Given the description of an element on the screen output the (x, y) to click on. 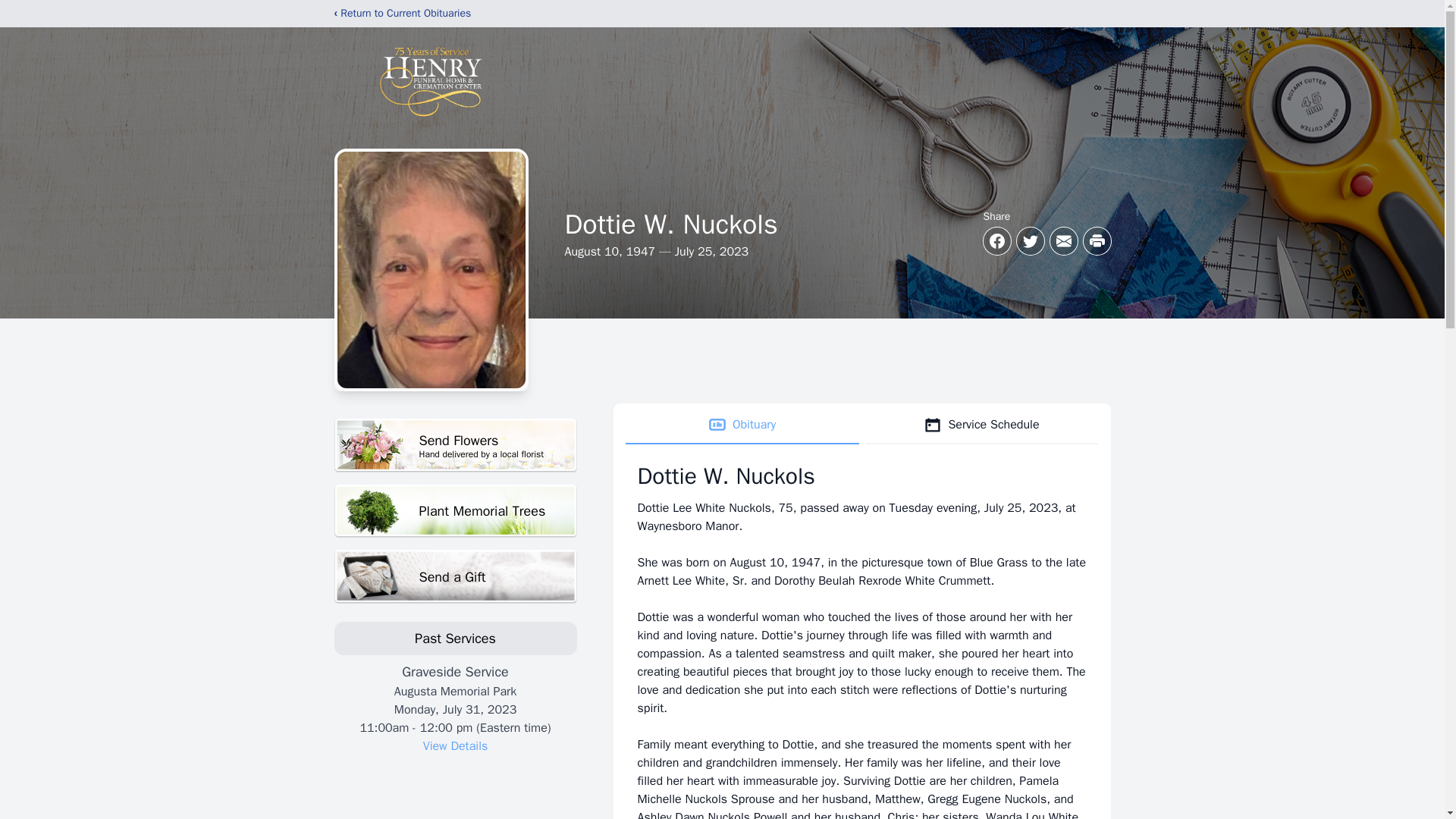
Plant Memorial Trees (454, 511)
View Details (455, 745)
Send a Gift (454, 576)
Obituary (741, 425)
Service Schedule (980, 425)
